Given the description of an element on the screen output the (x, y) to click on. 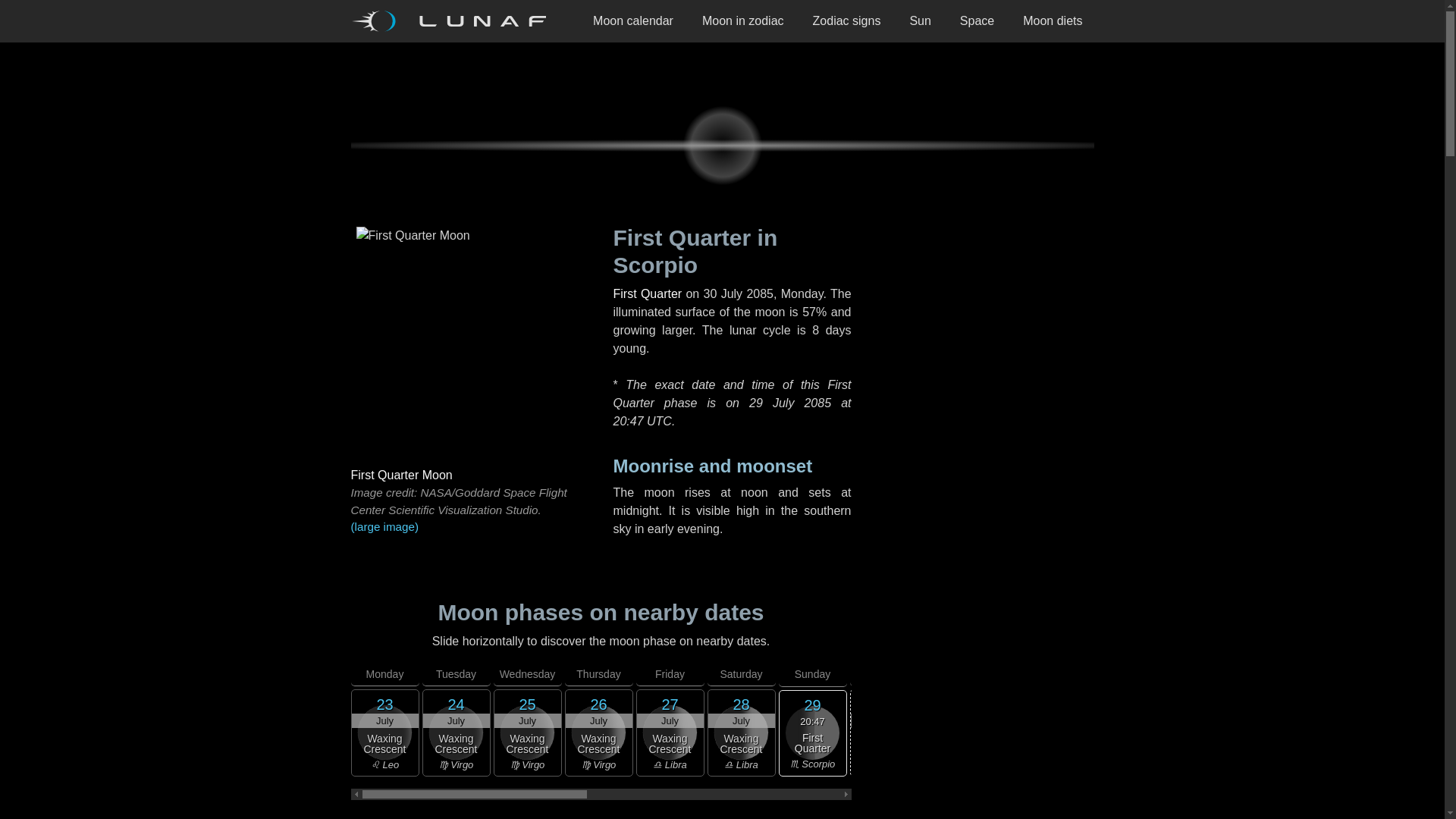
Space (977, 21)
Zodiac signs (847, 21)
Moon diets (1052, 21)
Lunaf (453, 21)
Moon in zodiac (742, 21)
Moon in zodiac (742, 21)
Moon calendar (632, 21)
Sun (920, 21)
Moon calendar (632, 21)
Space (977, 21)
Large image PNG: First Quarter Moon (469, 527)
Zodiac signs (847, 21)
Moon diets (1052, 21)
Sun (920, 21)
